Given the description of an element on the screen output the (x, y) to click on. 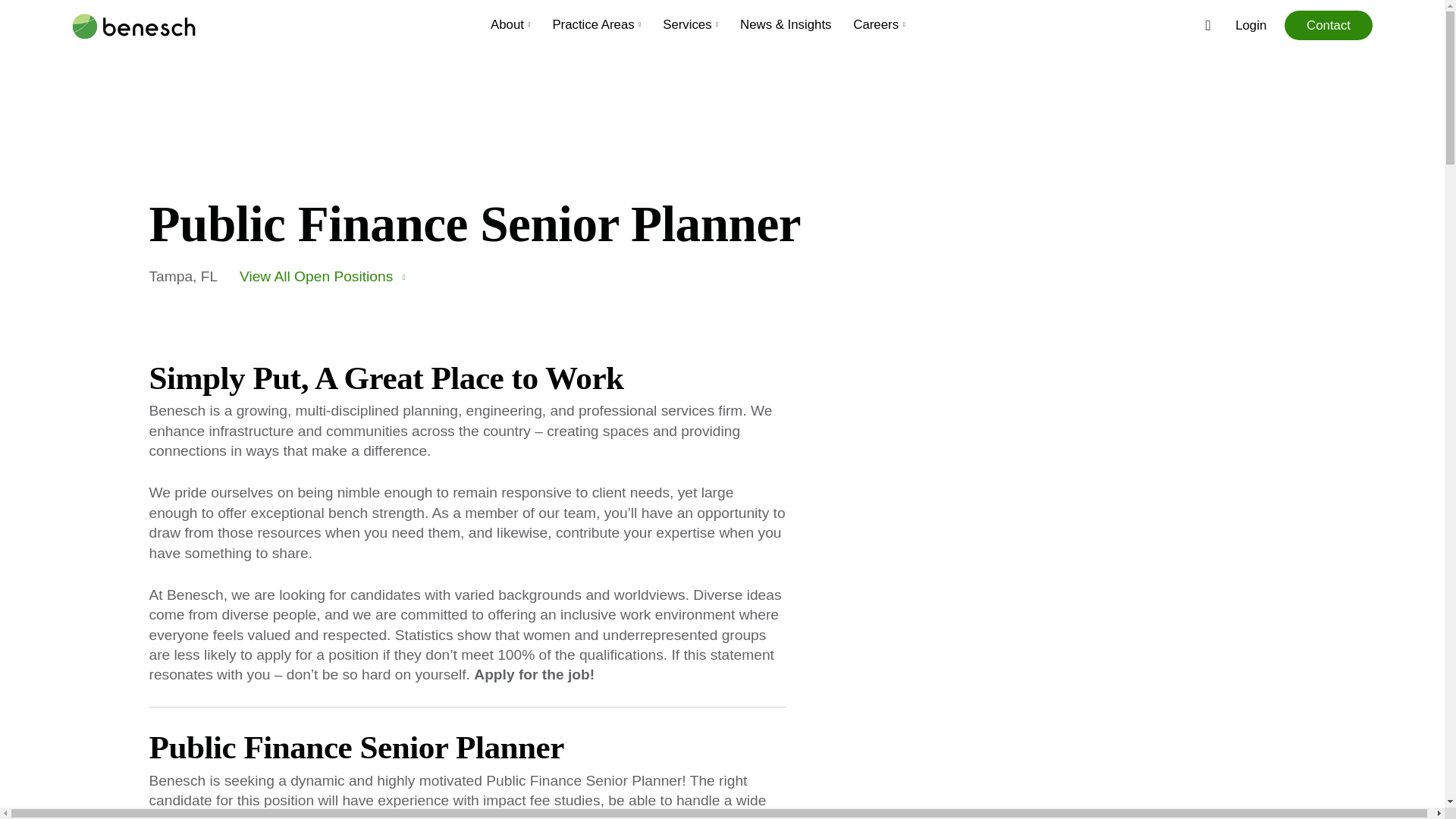
Design (853, 134)
Alternative Delivery (588, 134)
About (510, 32)
Railroads (593, 199)
Bridges (593, 169)
Communities (853, 107)
Community Planning (853, 139)
Explore All Services (213, 243)
Private Development (853, 229)
Bridge Inspection (588, 192)
Storm Water (1114, 199)
Potable Water (1114, 169)
Natural Resources (1114, 139)
Services (689, 32)
Learn More About Benesch (213, 223)
